Given the description of an element on the screen output the (x, y) to click on. 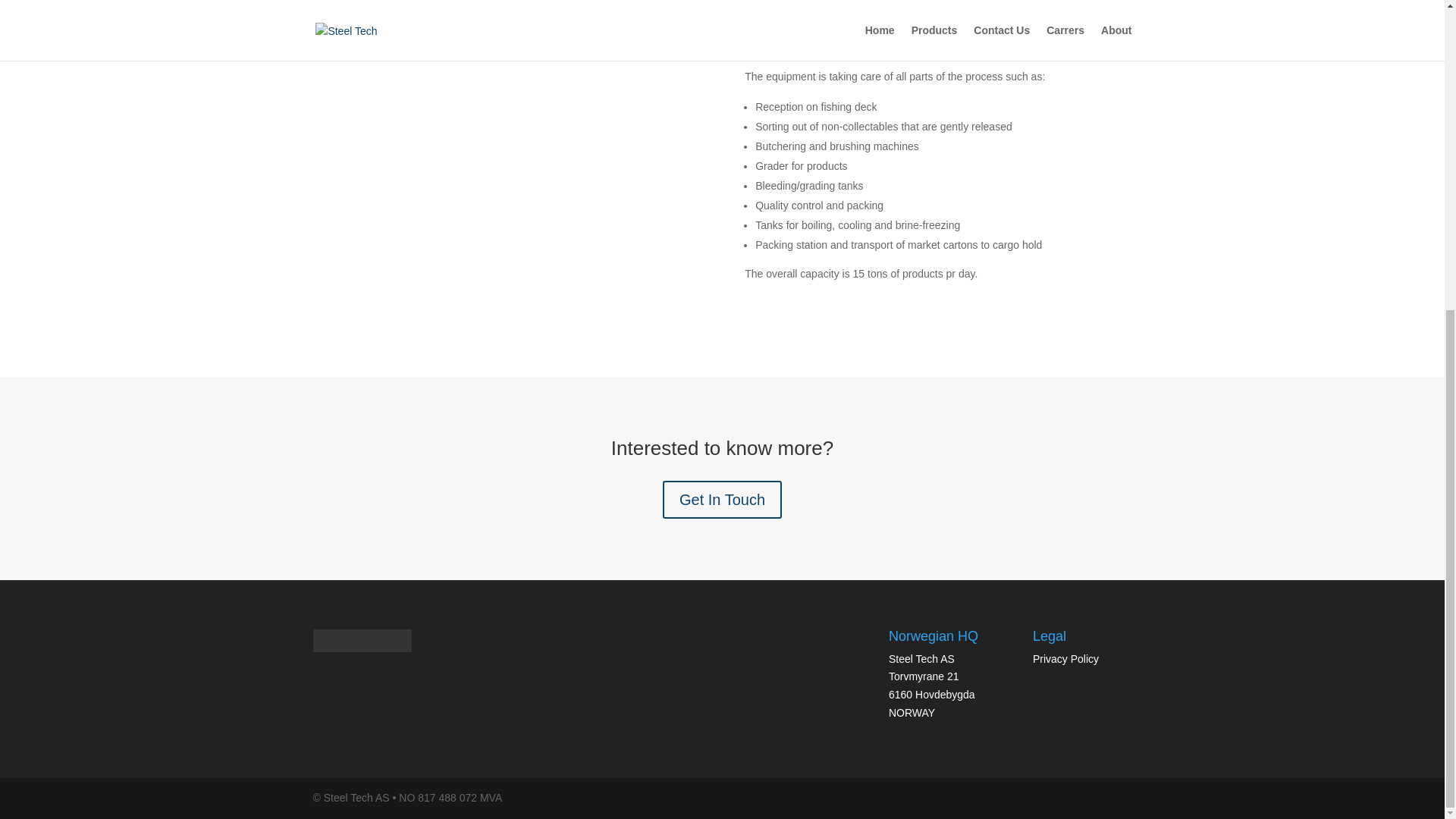
Privacy Policy (1065, 658)
Get In Touch (721, 499)
